Given the description of an element on the screen output the (x, y) to click on. 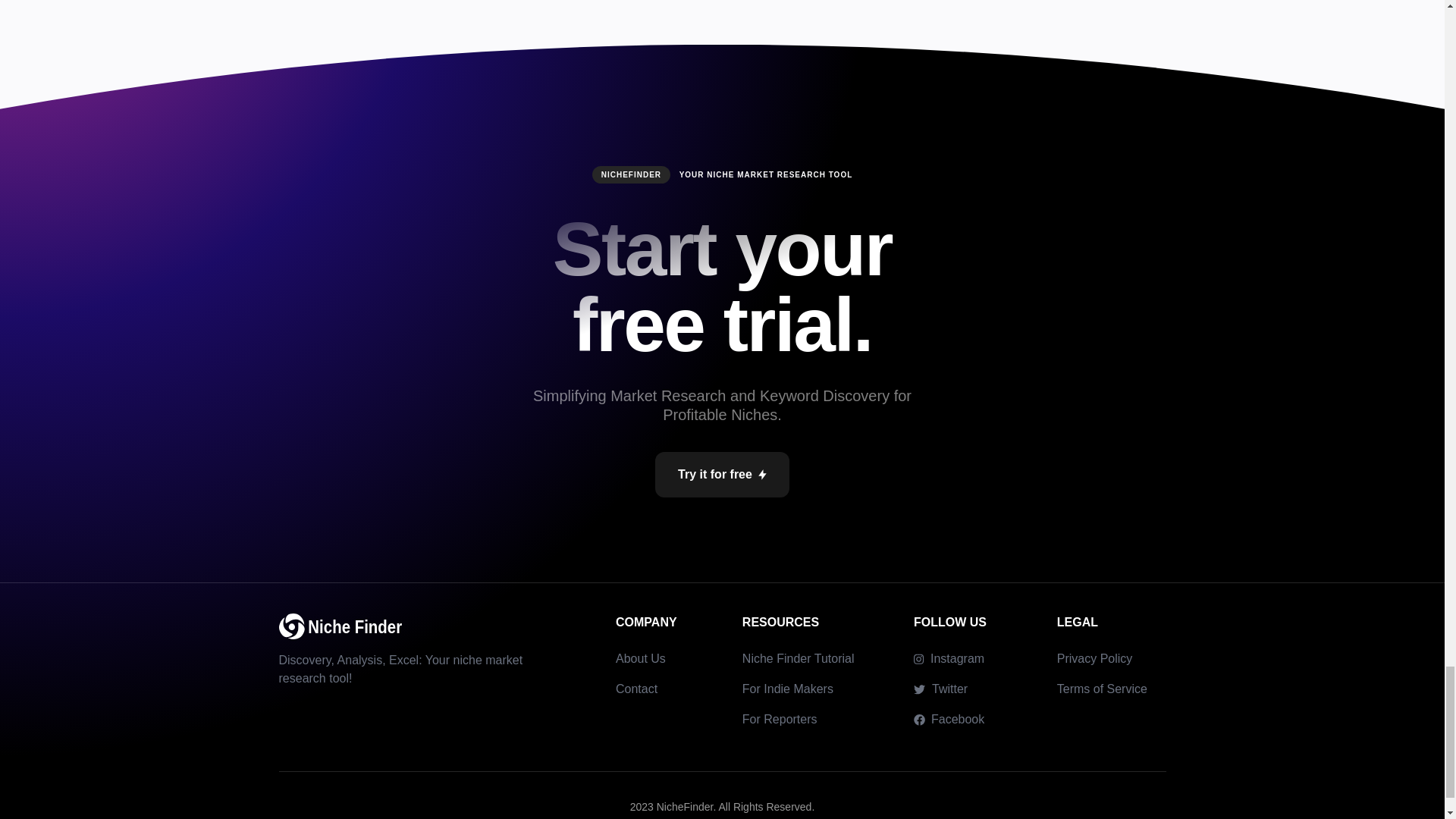
For Indie Makers (787, 688)
Privacy Policy (1094, 658)
Try it for free (722, 474)
Terms of Service (1102, 688)
Facebook (949, 719)
Contact (636, 688)
About Us (640, 658)
Instagram (949, 659)
Twitter (941, 689)
Niche Finder Tutorial (798, 658)
